Given the description of an element on the screen output the (x, y) to click on. 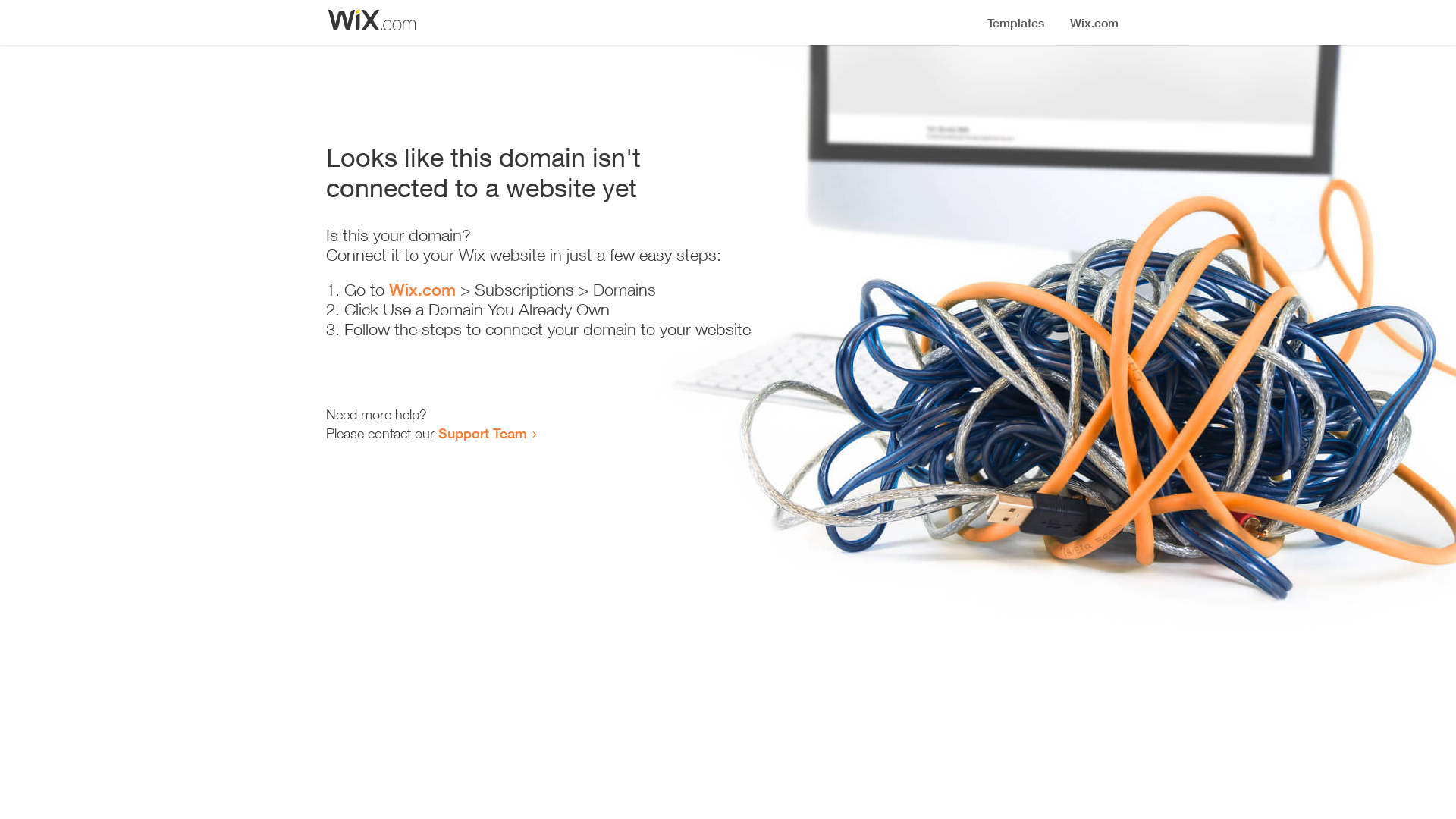
Support Team Element type: text (482, 432)
Wix.com Element type: text (422, 289)
